Given the description of an element on the screen output the (x, y) to click on. 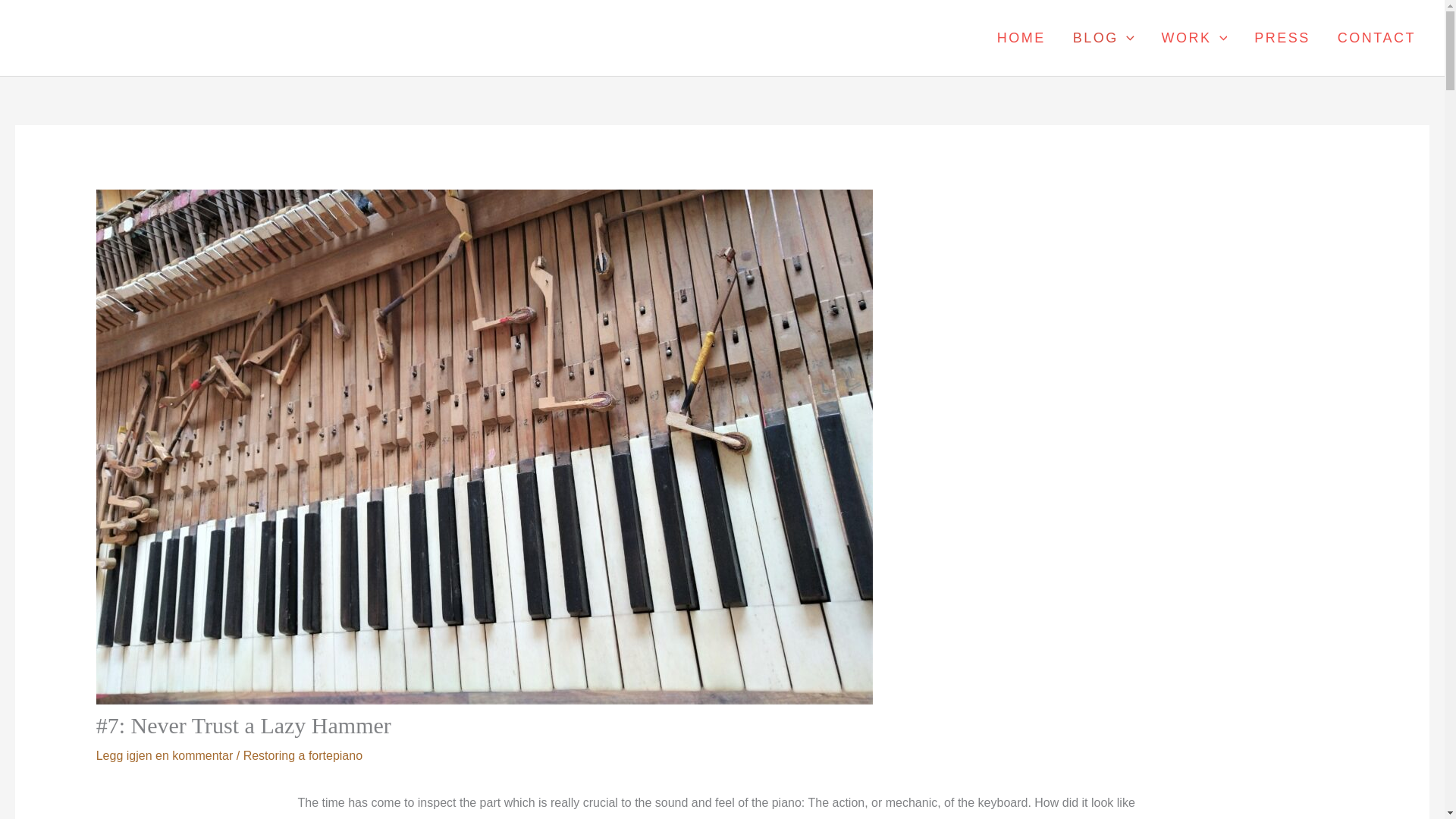
BLOG (1103, 38)
HOME (1021, 38)
WORK (1194, 38)
PRESS (1281, 38)
CONTACT (1376, 38)
